Given the description of an element on the screen output the (x, y) to click on. 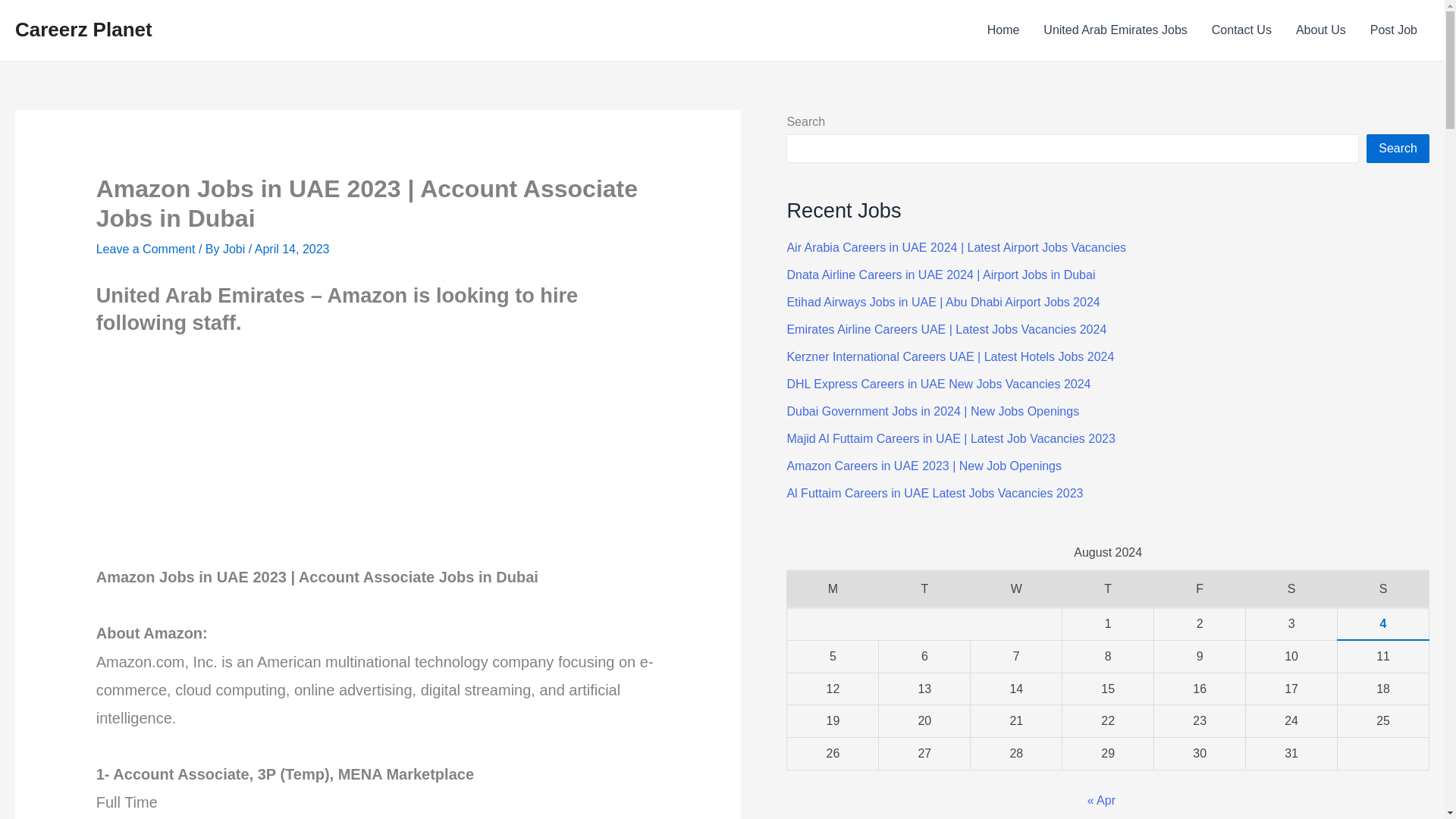
Thursday (1108, 589)
Contact Us (1241, 30)
About Us (1321, 30)
Leave a Comment (145, 248)
Jobi (235, 248)
DHL Express Careers in UAE New Jobs Vacancies 2024 (938, 383)
Tuesday (925, 589)
United Arab Emirates Jobs (1114, 30)
Saturday (1292, 589)
Friday (1200, 589)
View all posts by Jobi (235, 248)
Home (1003, 30)
Search (1398, 148)
Careerz Planet (83, 29)
Post Job (1393, 30)
